Given the description of an element on the screen output the (x, y) to click on. 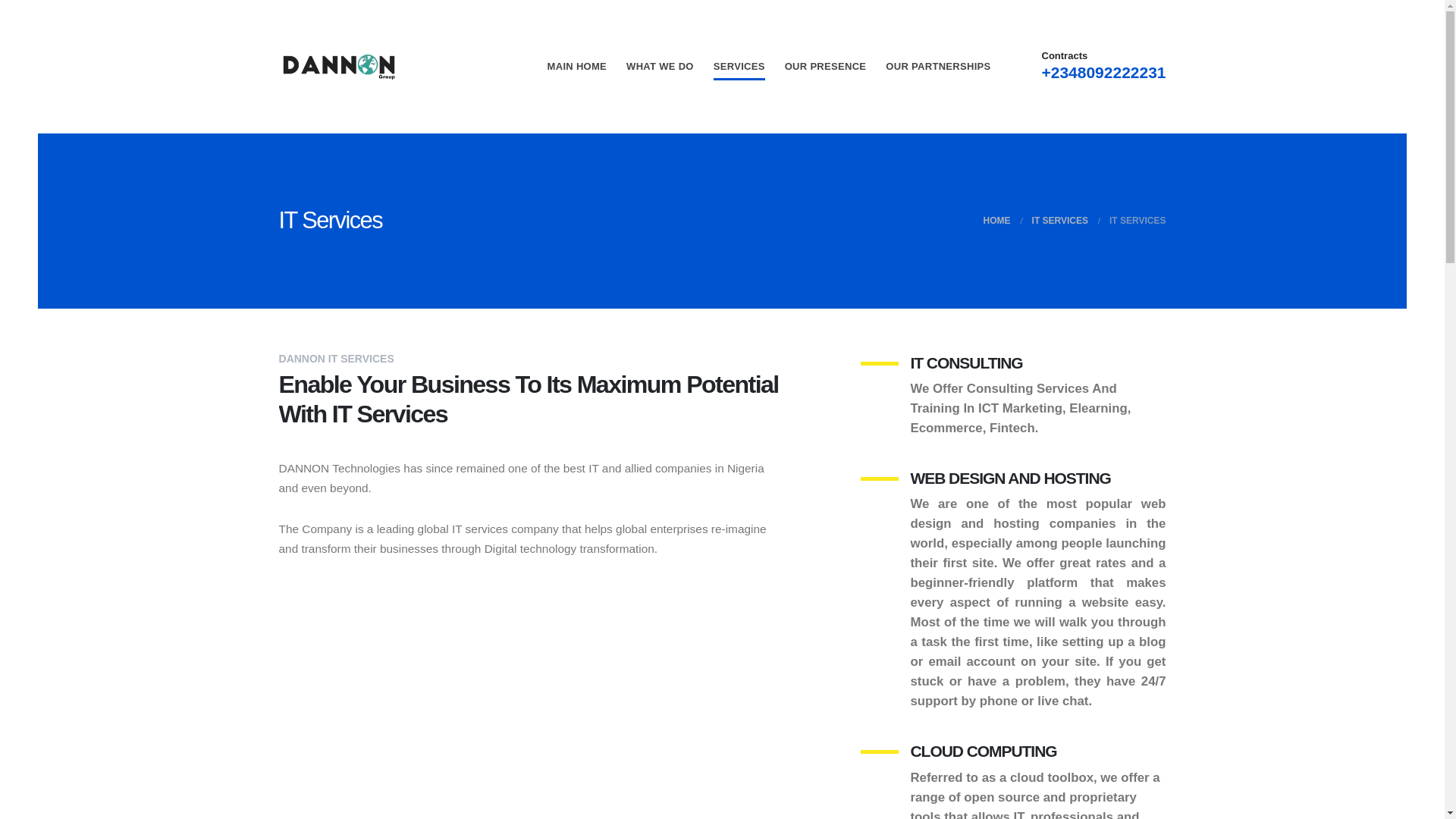
OUR PRESENCE (826, 66)
Go to Home Page (997, 220)
OUR PARTNERSHIPS (938, 66)
